Given the description of an element on the screen output the (x, y) to click on. 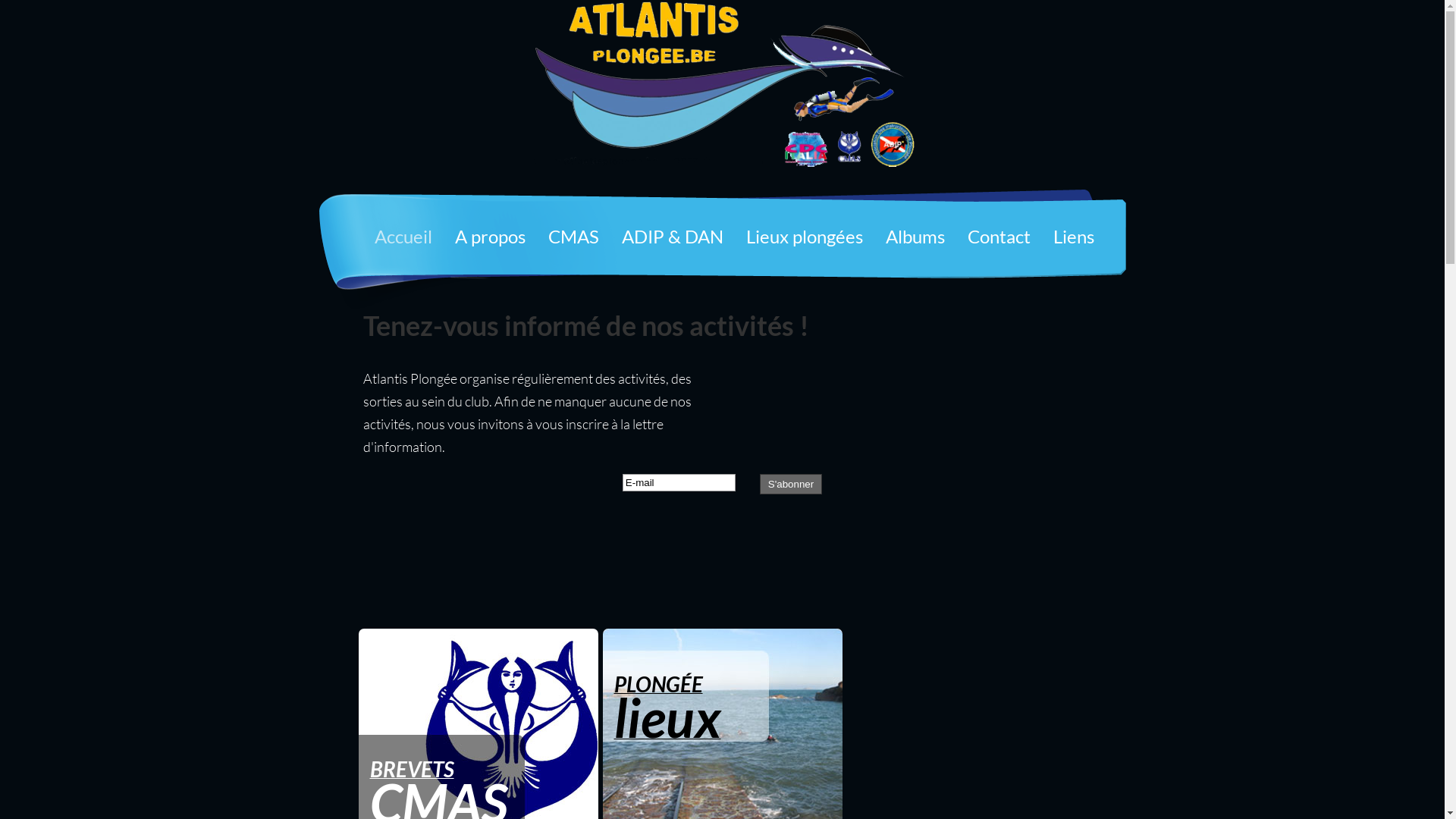
S'abonner Element type: text (790, 483)
Accueil Element type: text (402, 240)
E-mail Element type: hover (679, 482)
Contact Element type: text (998, 240)
Liens Element type: text (1073, 240)
